Given the description of an element on the screen output the (x, y) to click on. 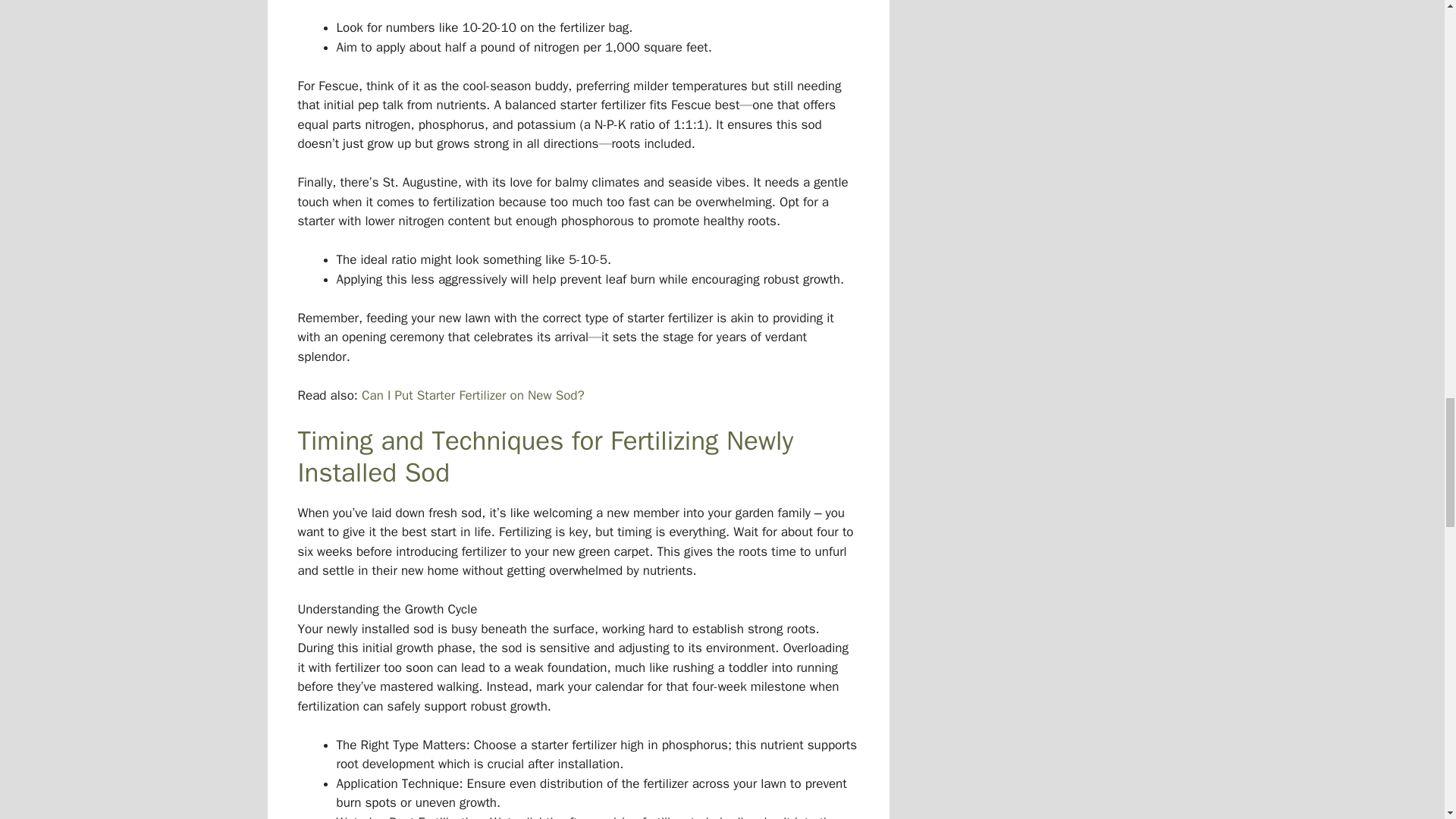
Can I Put Starter Fertilizer on New Sod? (473, 395)
